Given the description of an element on the screen output the (x, y) to click on. 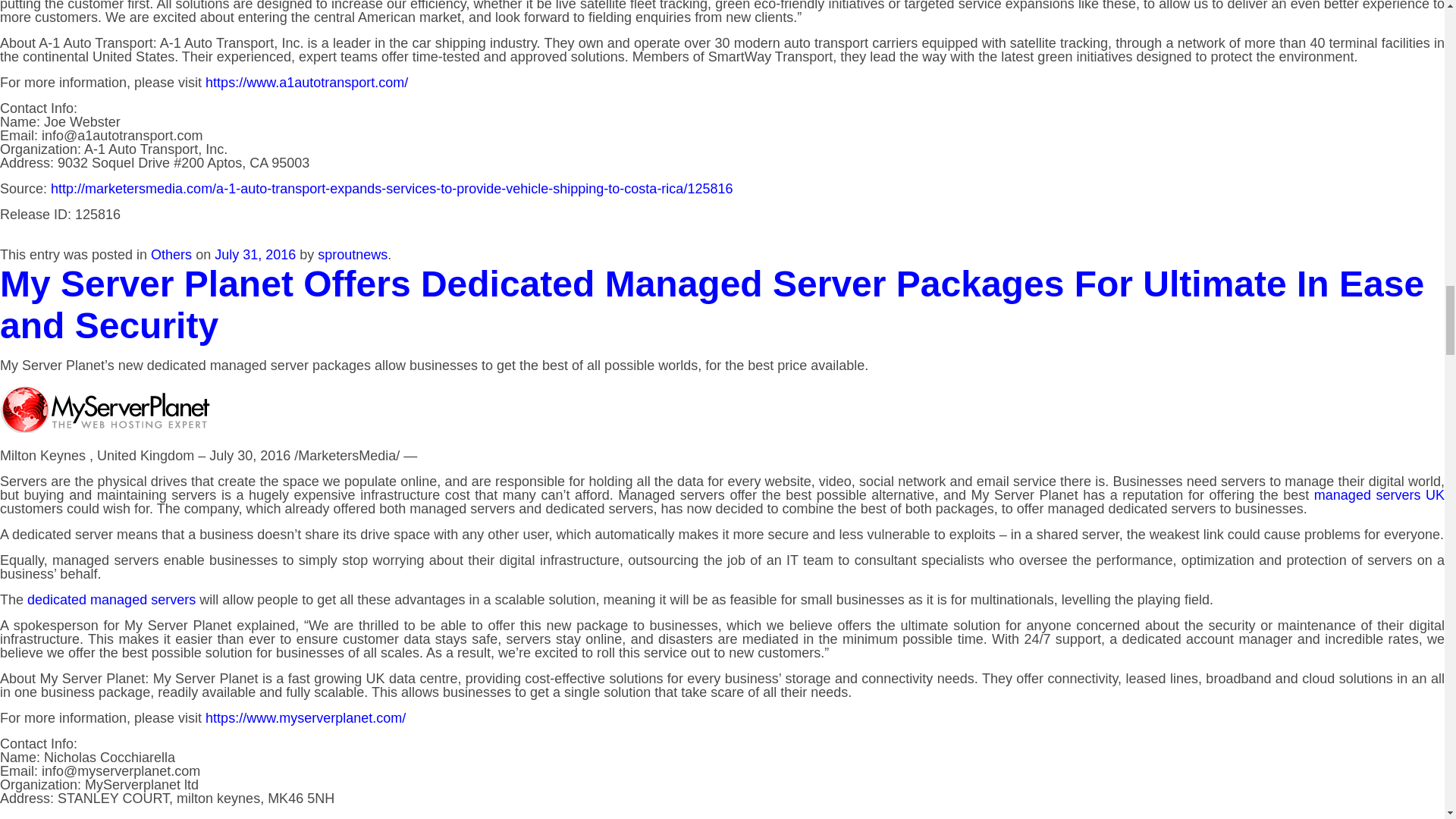
4:30 am (254, 254)
View all posts by sproutnews (352, 254)
